Given the description of an element on the screen output the (x, y) to click on. 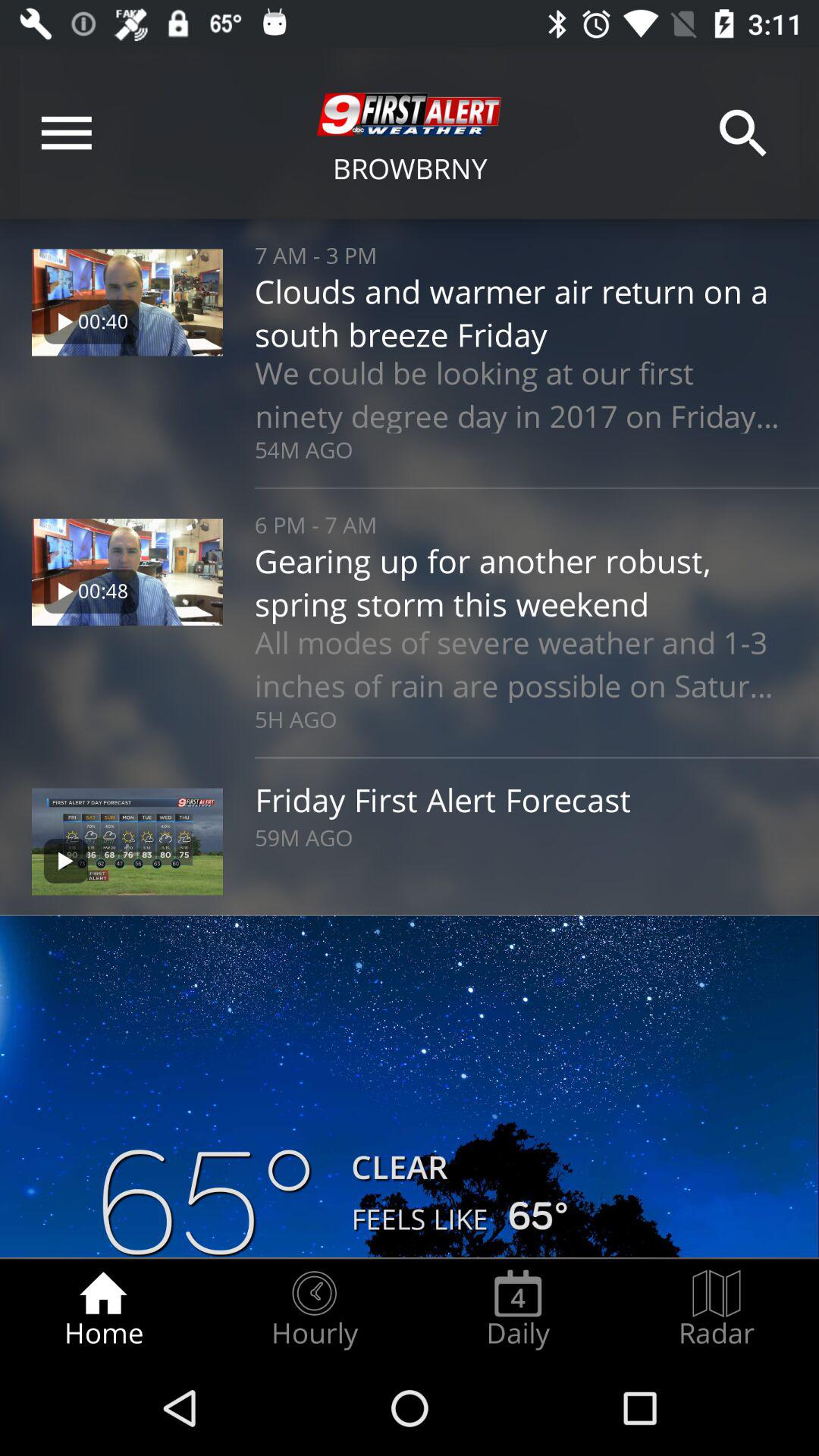
select item next to hourly icon (518, 1309)
